Given the description of an element on the screen output the (x, y) to click on. 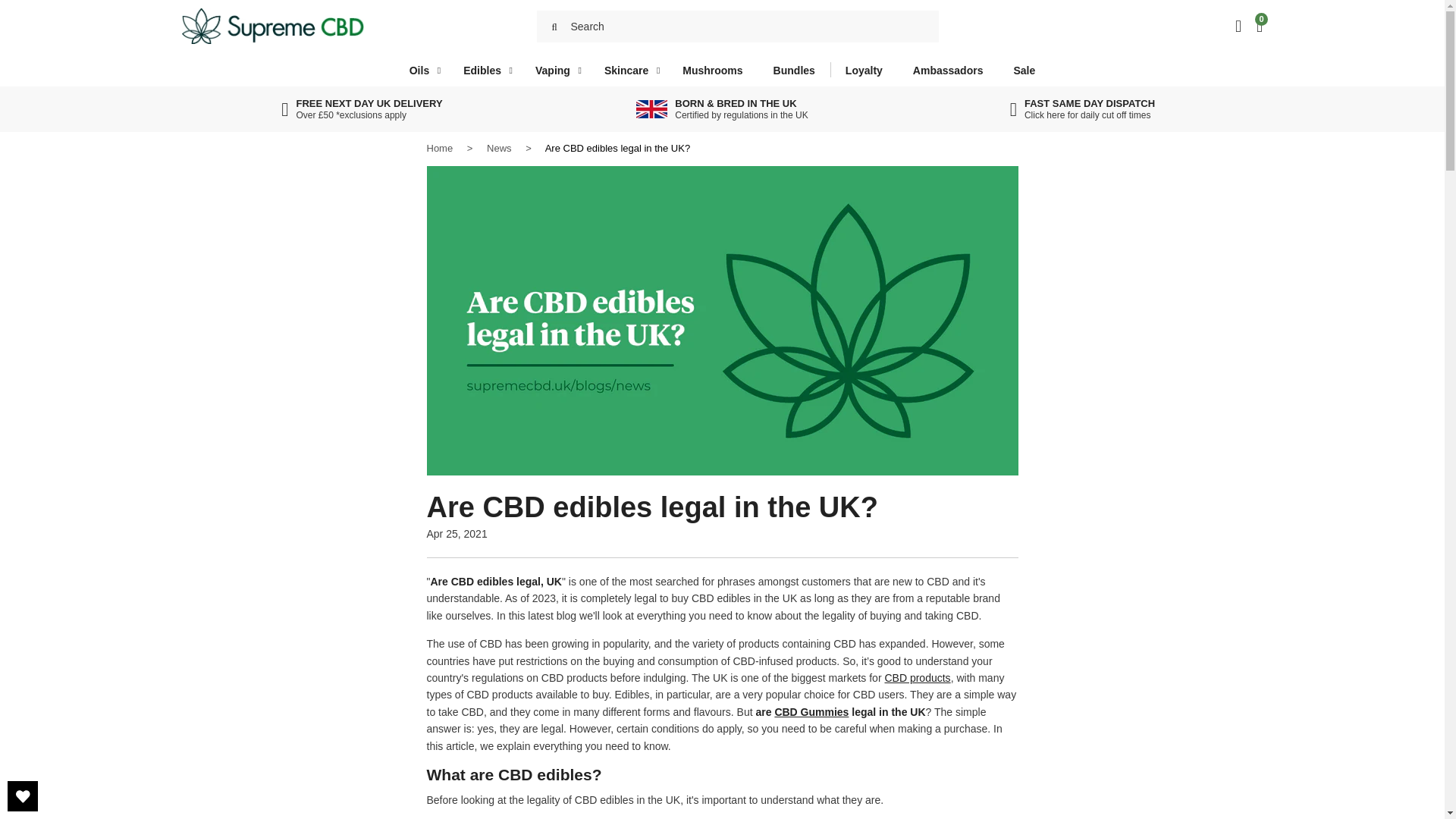
Edibles (483, 69)
Vaping (554, 69)
CBD Gummies (811, 711)
submit (1082, 108)
Loyalty (554, 26)
Skincare (863, 69)
SupremeCBD (627, 69)
Home (273, 26)
Ambassadors (439, 147)
